Given the description of an element on the screen output the (x, y) to click on. 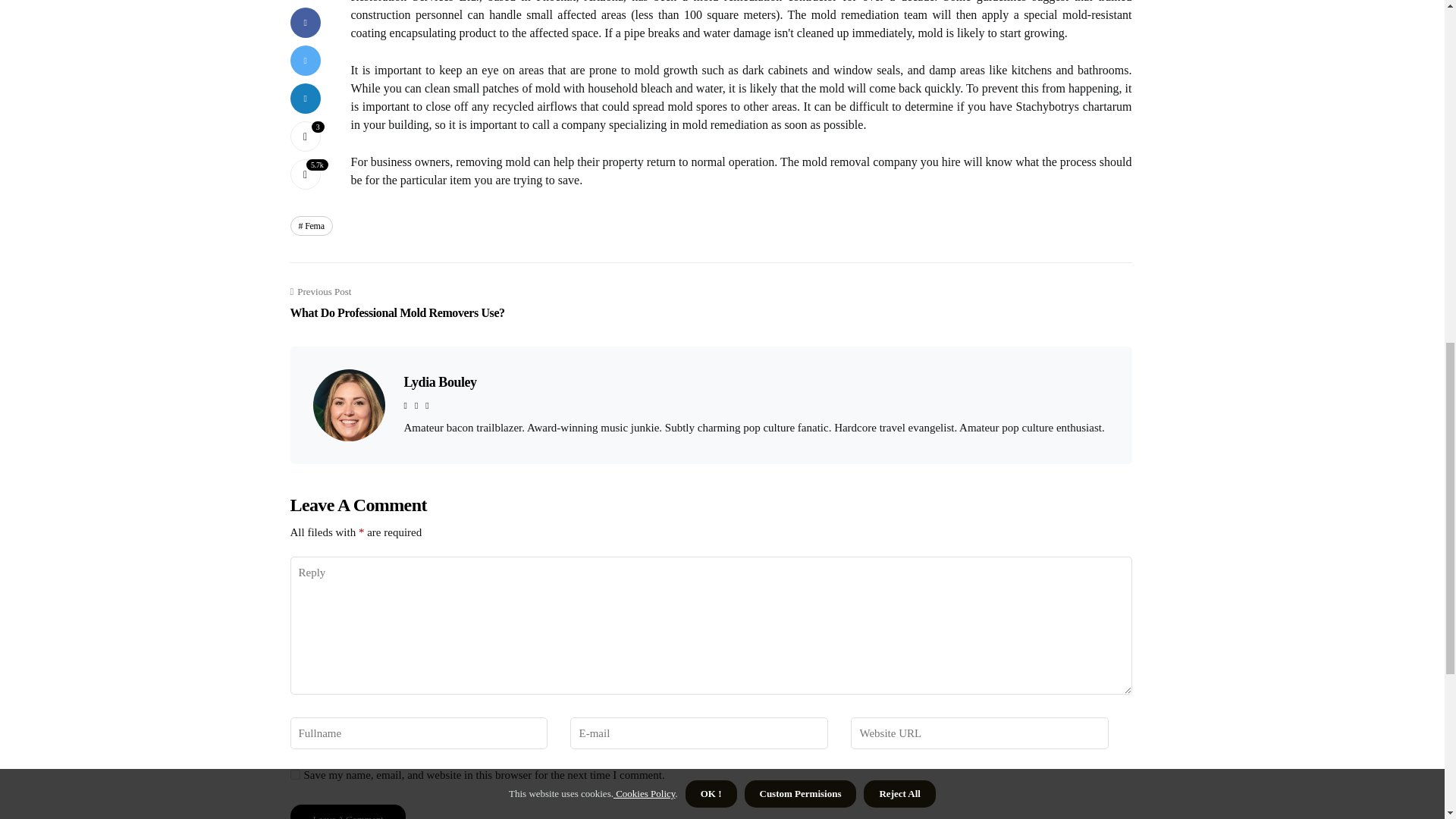
yes (294, 774)
Lydia Bouley (396, 303)
Leave a Comment (439, 381)
Fema (347, 811)
Leave a Comment (310, 225)
